Given the description of an element on the screen output the (x, y) to click on. 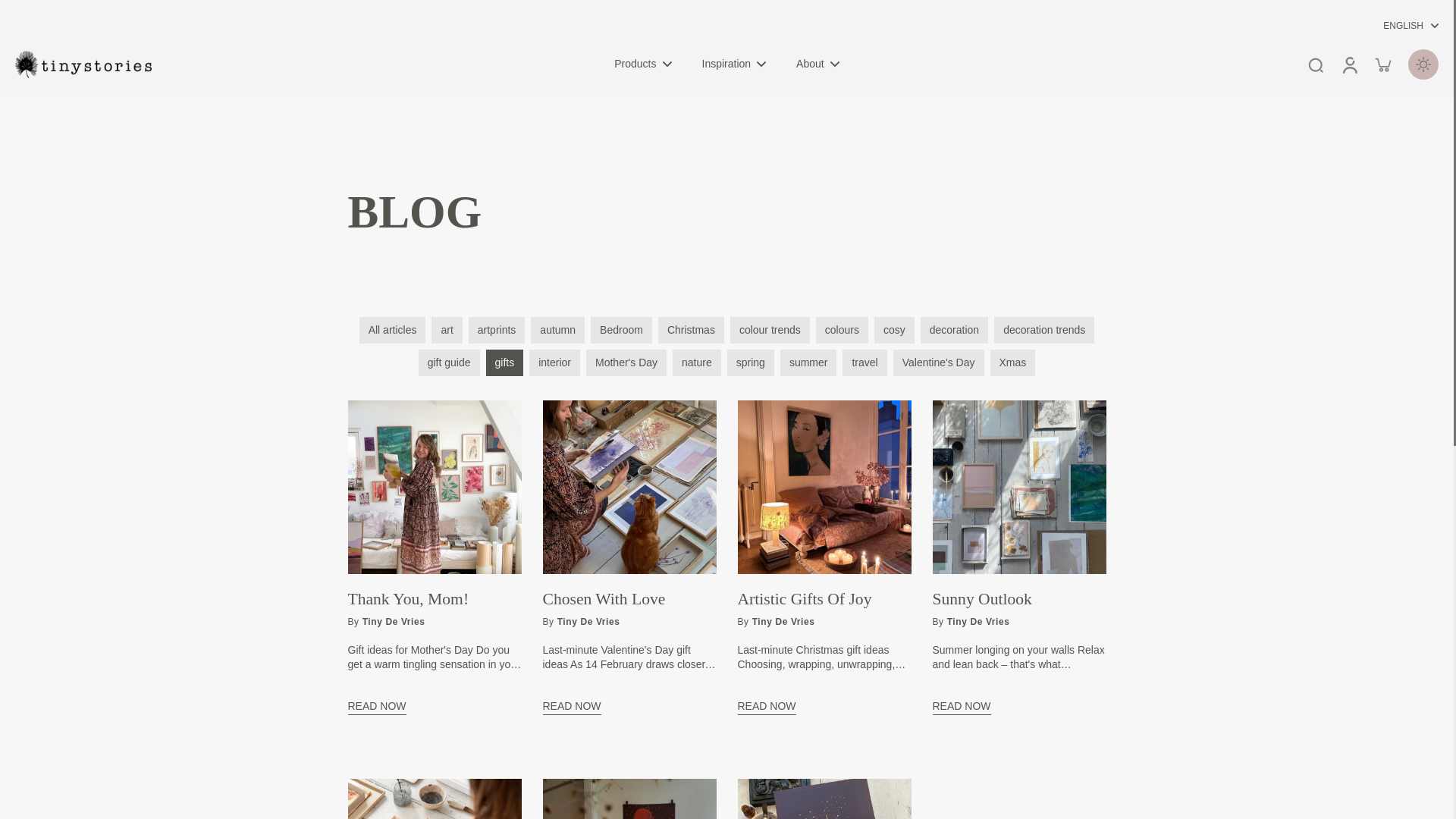
ENGLISH (1403, 26)
Inspiration (734, 64)
Products (642, 64)
About (818, 64)
Skip to content (19, 10)
